Given the description of an element on the screen output the (x, y) to click on. 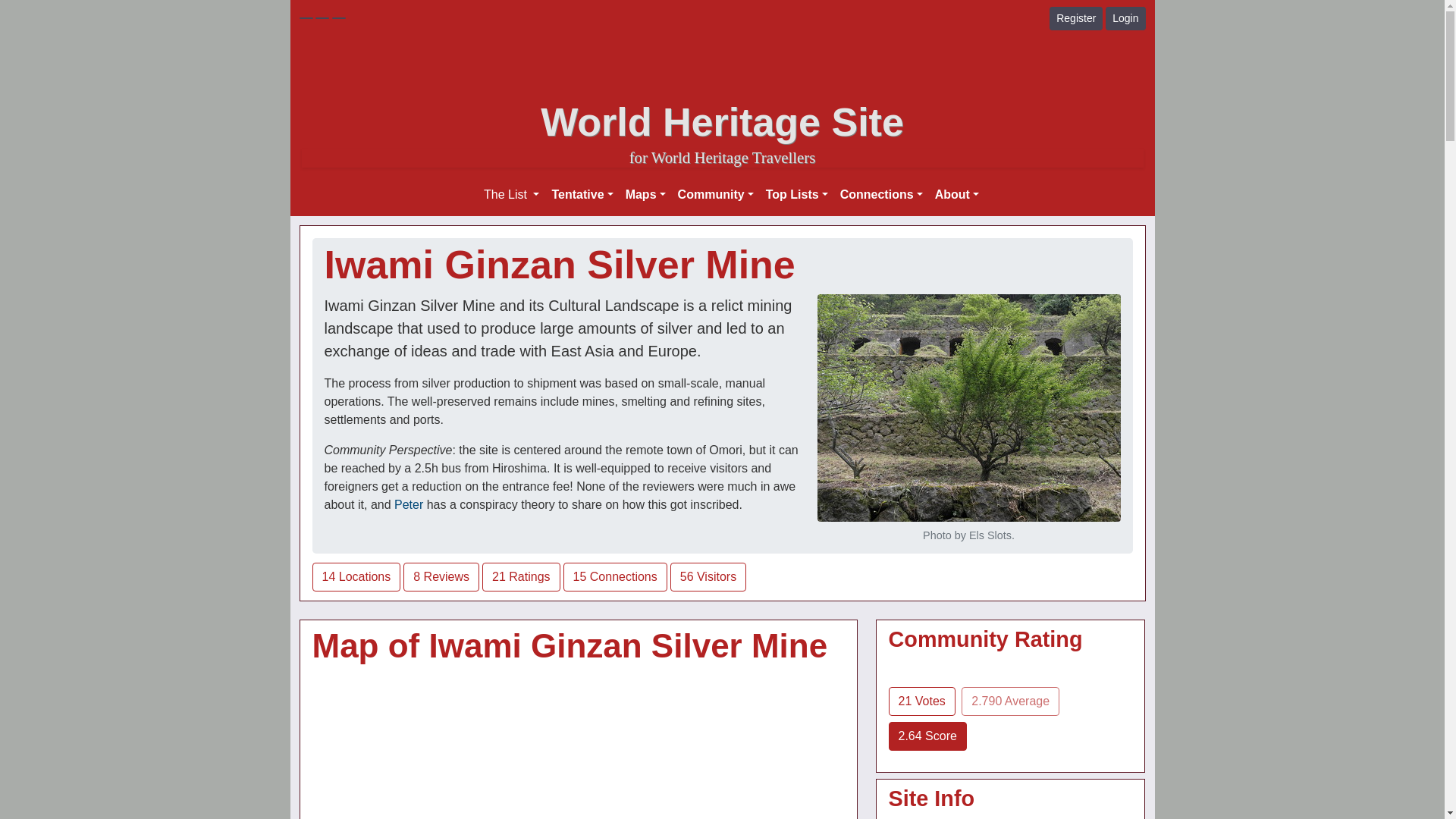
Community (715, 194)
Register (1075, 18)
Maps (645, 194)
The List (510, 194)
Tentative (581, 194)
Login (1124, 18)
